Given the description of an element on the screen output the (x, y) to click on. 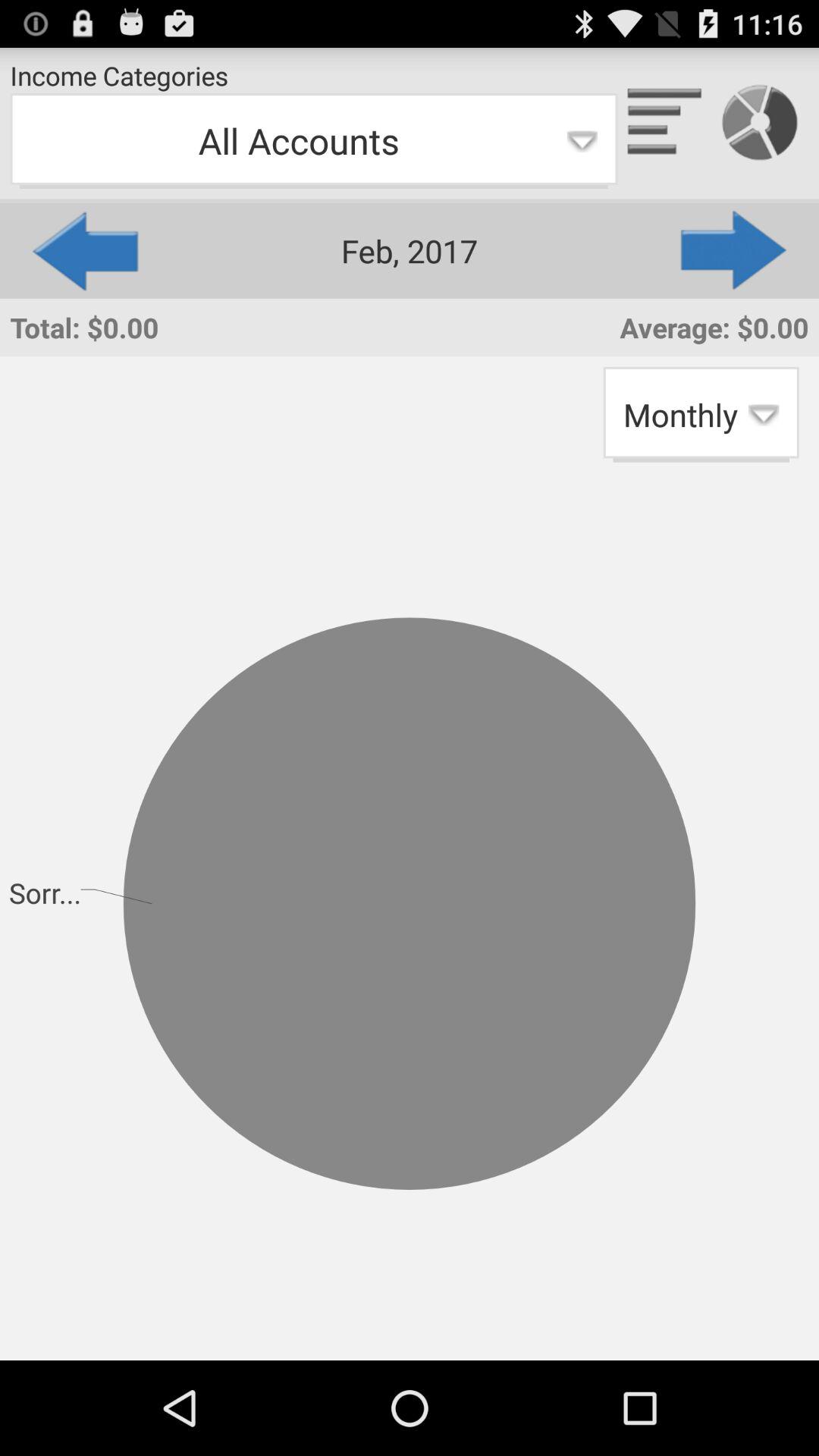
launch the app to the right of total: $0.00 app (701, 414)
